Given the description of an element on the screen output the (x, y) to click on. 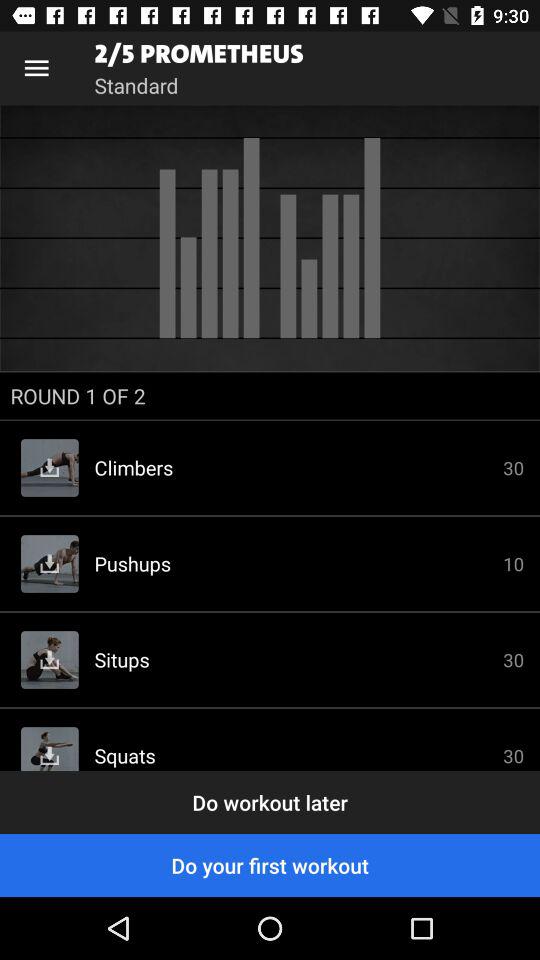
select the do your first (270, 864)
